Given the description of an element on the screen output the (x, y) to click on. 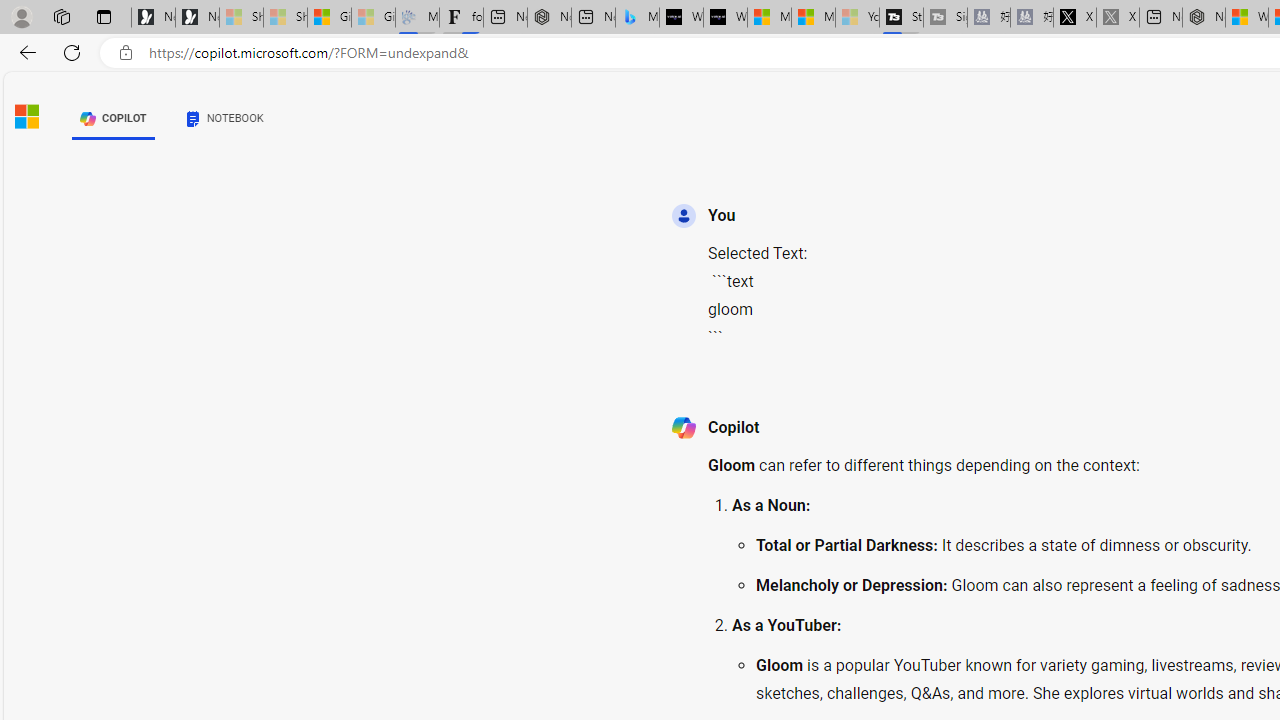
Newsletter Sign Up (196, 17)
NOTEBOOK (224, 118)
